Given the description of an element on the screen output the (x, y) to click on. 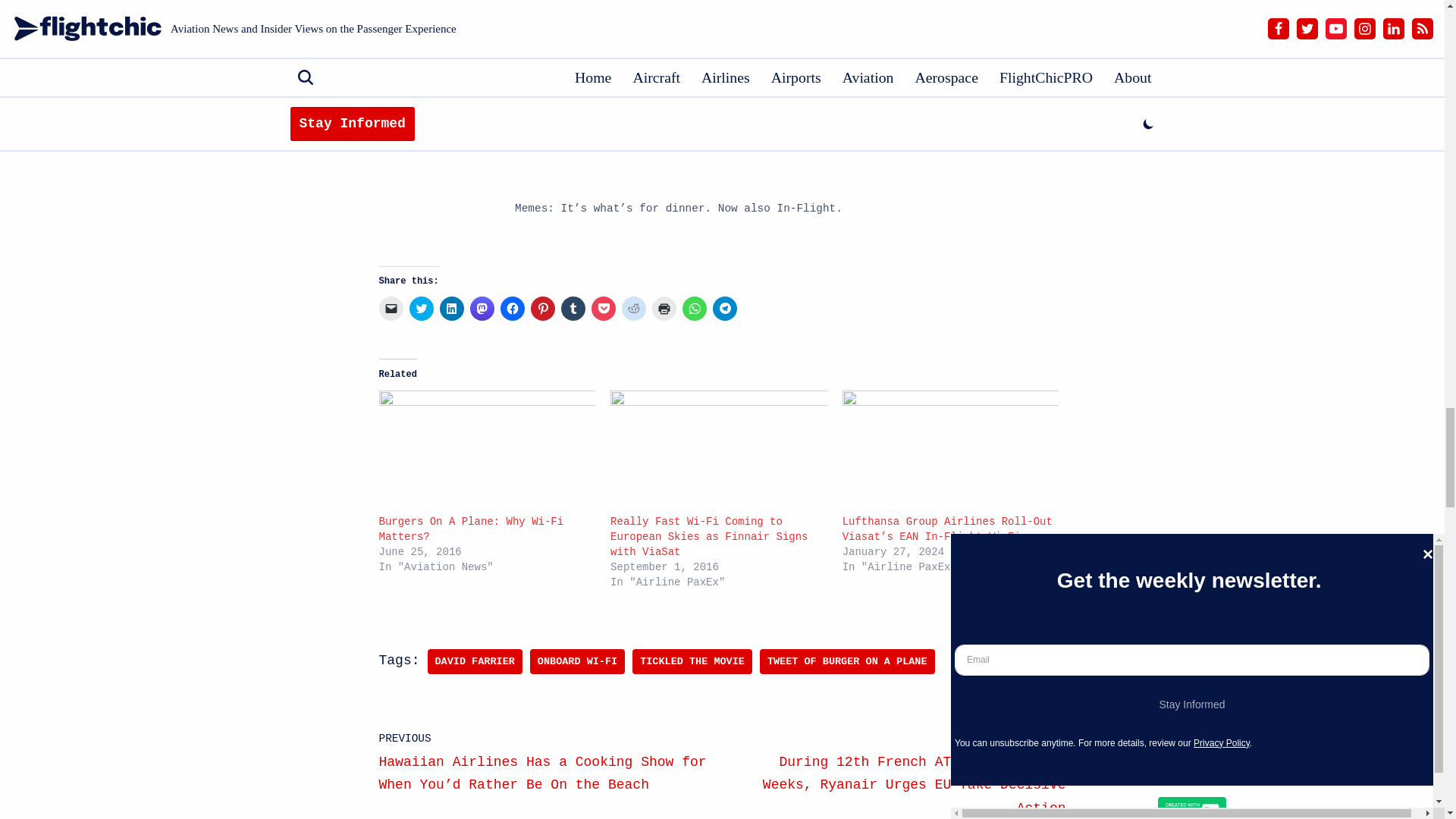
Click to share on Twitter (421, 308)
Click to share on Tumblr (572, 308)
Click to share on Pinterest (542, 308)
Click to share on Reddit (633, 308)
Click to share on LinkedIn (451, 308)
Click to share on Facebook (512, 308)
Click to share on Mastodon (482, 308)
Click to email a link to a friend (390, 308)
Click to share on Pocket (603, 308)
